Given the description of an element on the screen output the (x, y) to click on. 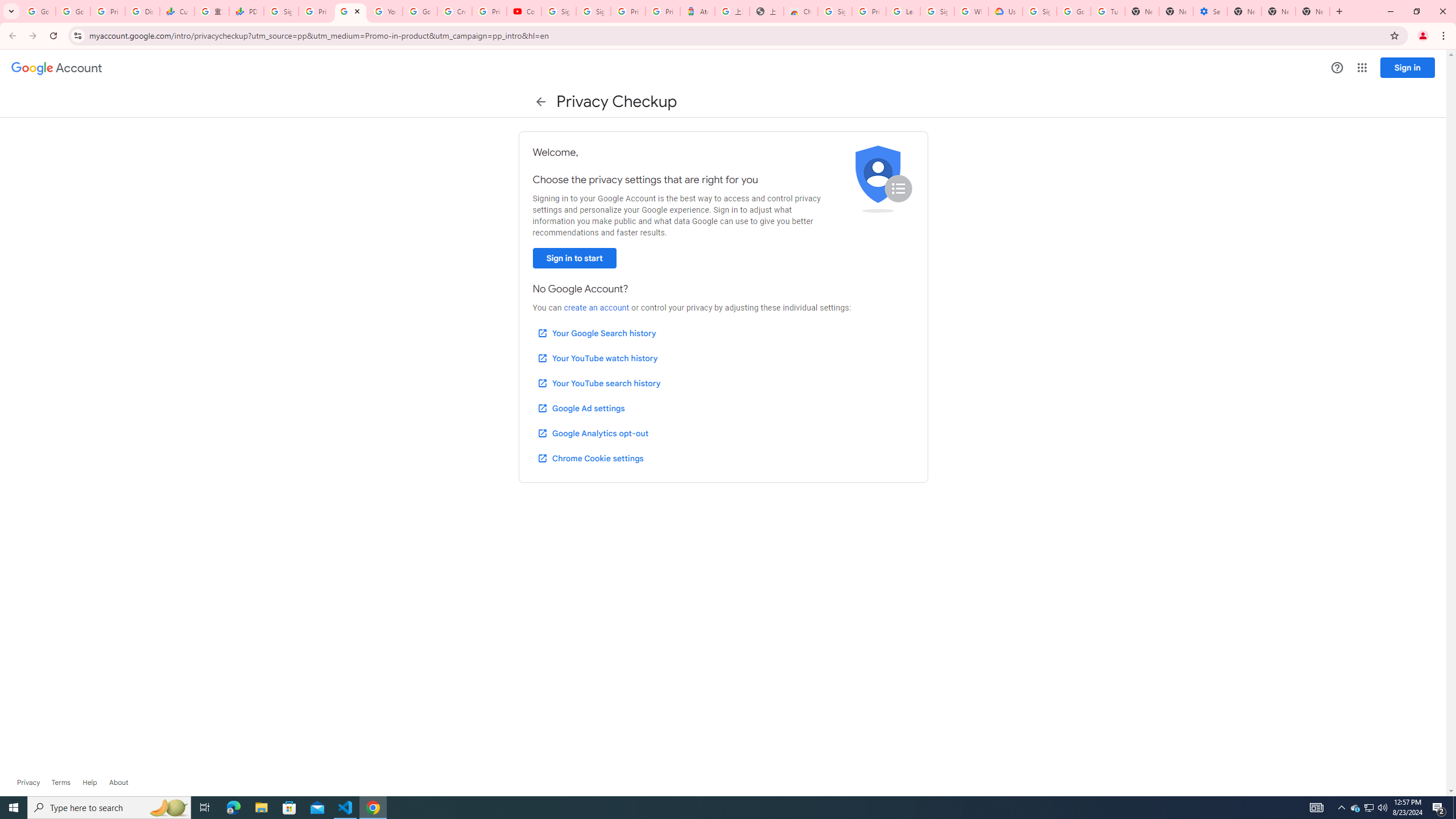
Sign in - Google Accounts (557, 11)
Google Account Help (419, 11)
Help (1336, 67)
Help (89, 782)
Google apps (1362, 67)
Terms (61, 782)
Privacy (28, 782)
Google Account Help (1073, 11)
Currencies - Google Finance (176, 11)
create an account (595, 307)
Sign in - Google Accounts (592, 11)
